Given the description of an element on the screen output the (x, y) to click on. 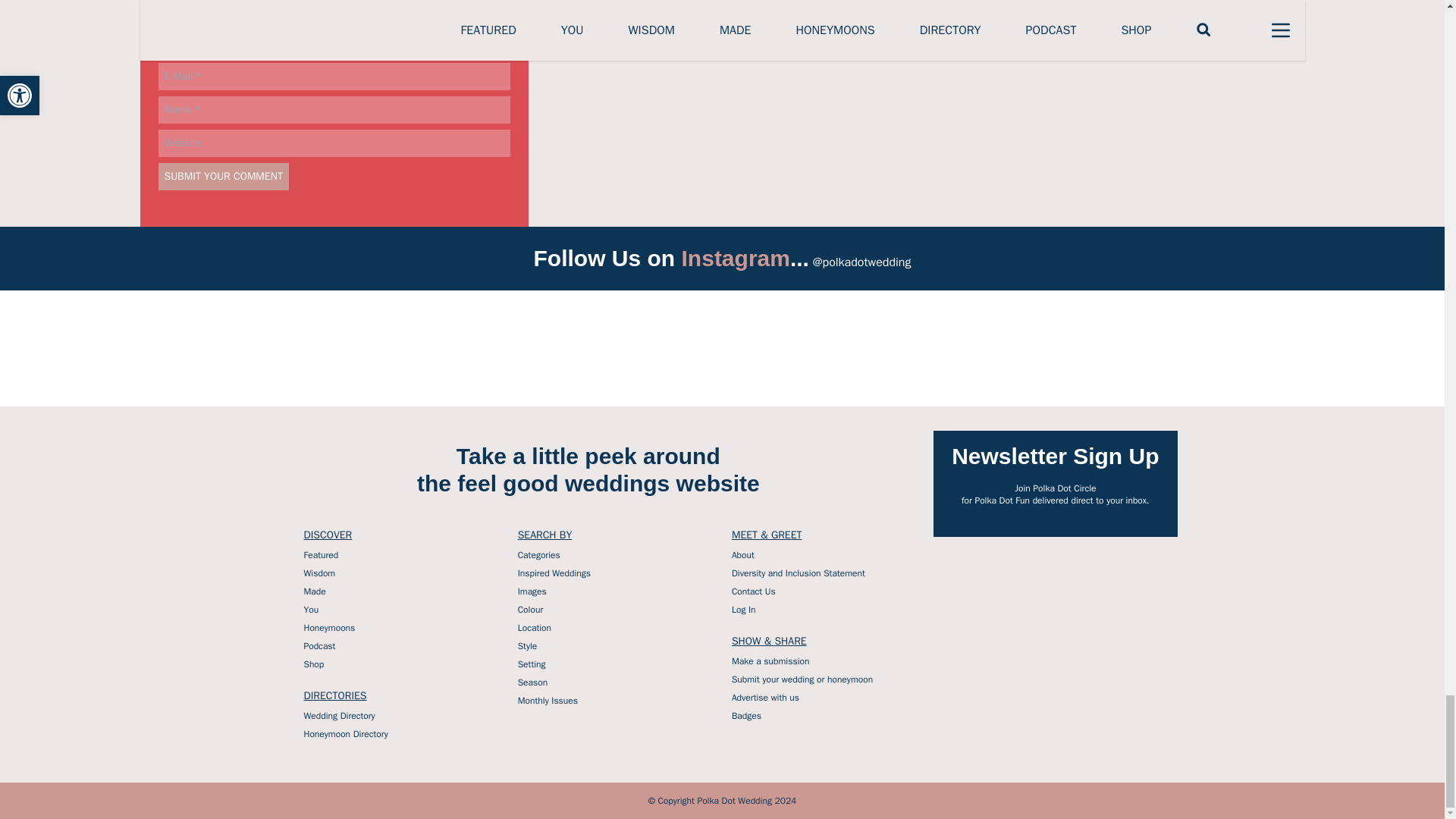
SUBMIT YOUR COMMENT (222, 176)
